Given the description of an element on the screen output the (x, y) to click on. 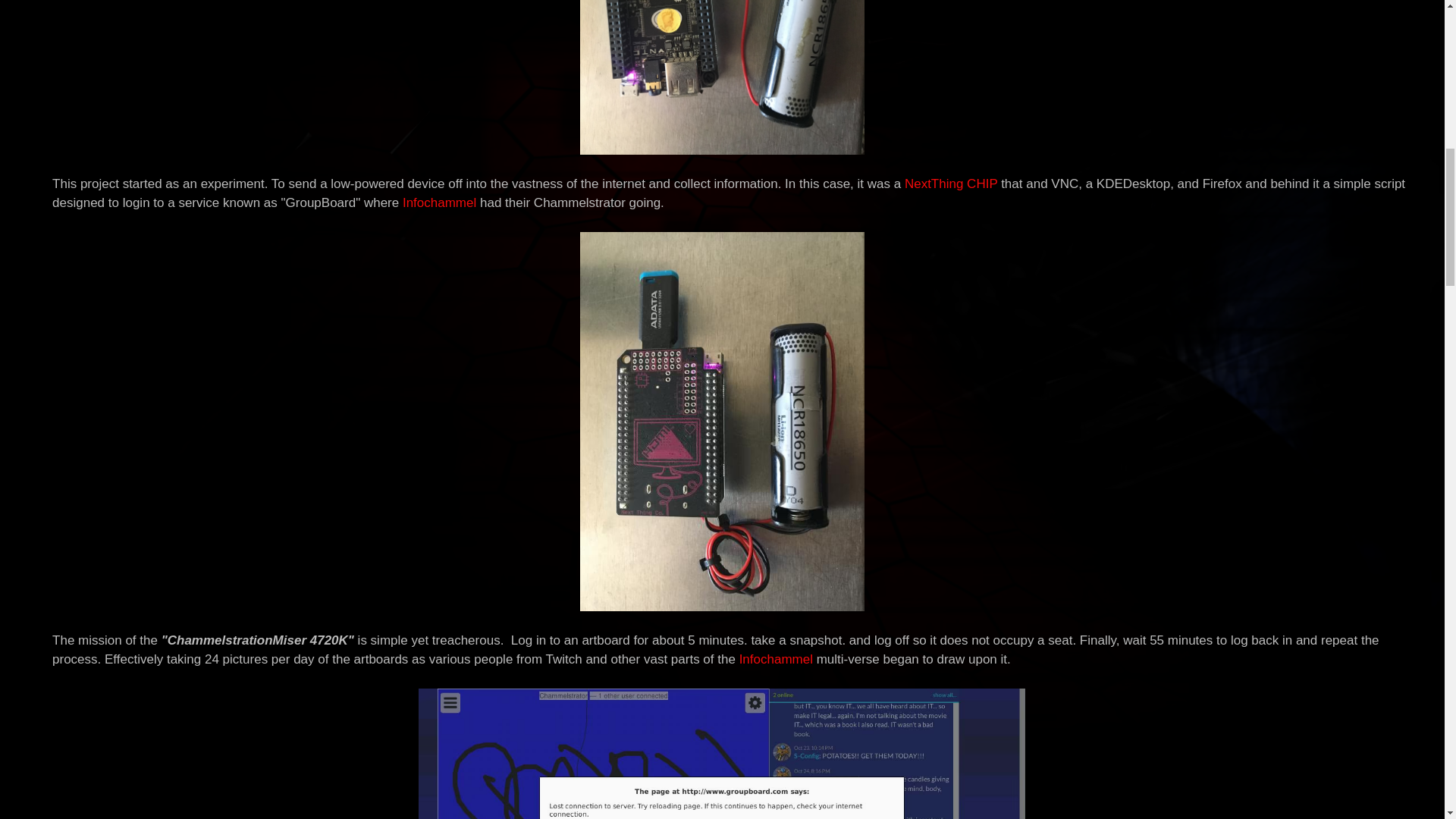
Infochammel (439, 202)
Infochammel (775, 658)
NextThing CHIP (950, 183)
